Given the description of an element on the screen output the (x, y) to click on. 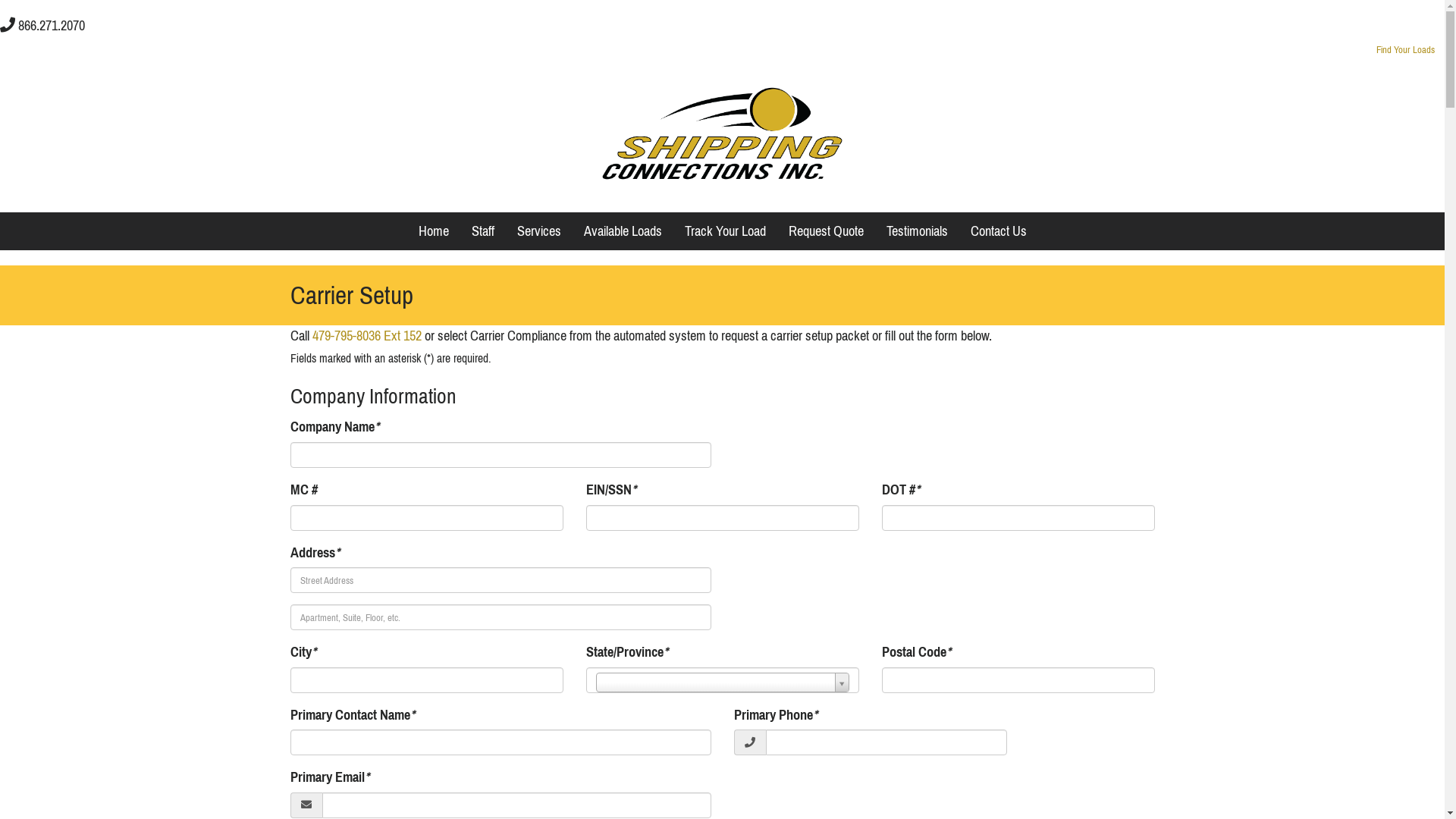
Available Loads Element type: text (621, 231)
Services Element type: text (538, 231)
Staff Element type: text (482, 231)
Request Quote Element type: text (825, 231)
Shipping Connections NWA's Full-Service Freight Brokers Element type: hover (722, 133)
Testimonials Element type: text (917, 231)
Home Element type: text (432, 231)
479-795-8036 Ext 152 Element type: text (366, 335)
Track Your Load Element type: text (725, 231)
Find Your Loads Element type: text (1405, 49)
Contact Us Element type: text (997, 231)
